Given the description of an element on the screen output the (x, y) to click on. 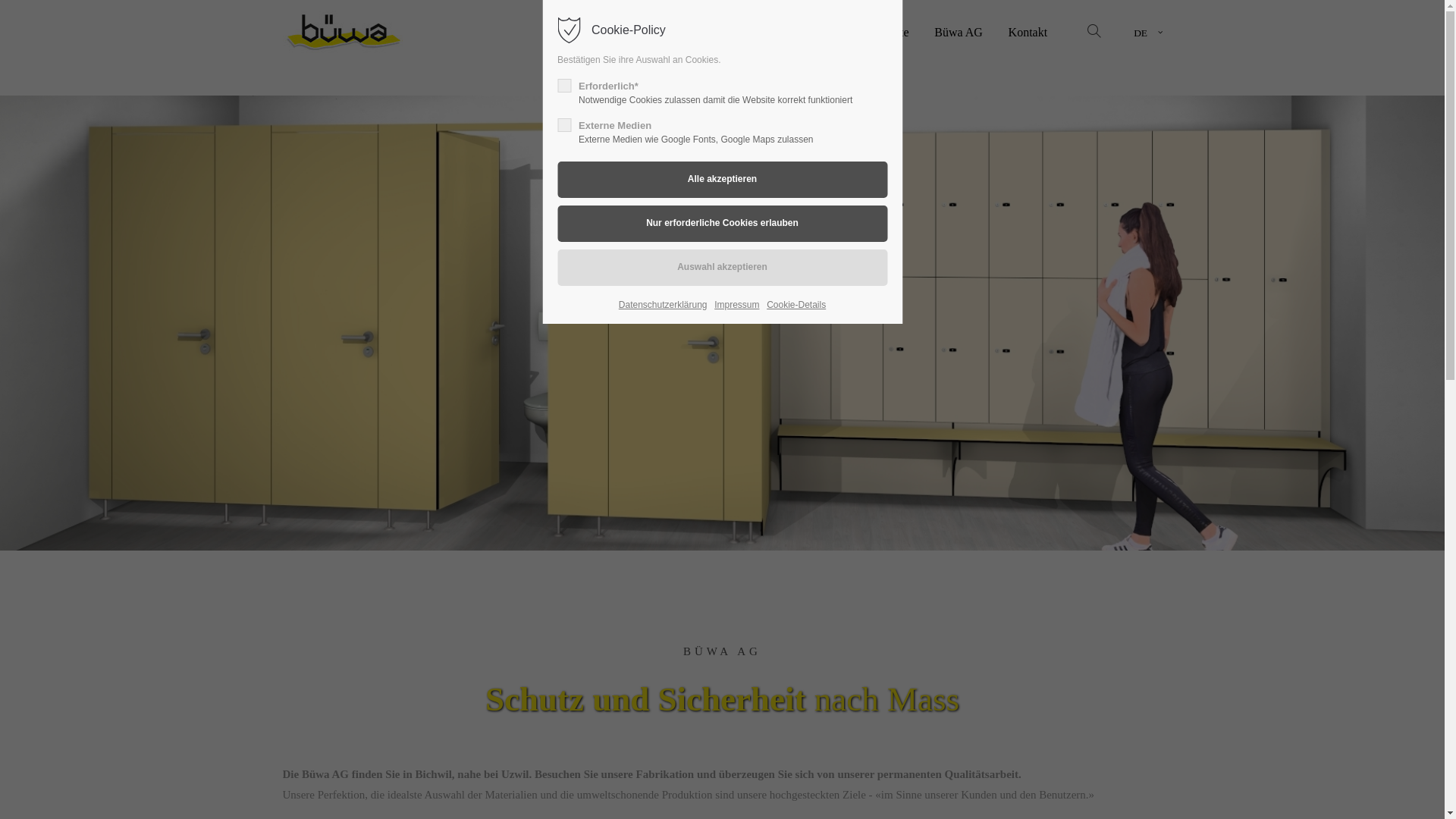
Cookie-Details Element type: text (795, 304)
Auswahl akzeptieren Element type: text (722, 267)
Kontakt Element type: text (1028, 32)
Home Element type: text (824, 32)
Produkte Element type: text (887, 32)
Impressum Element type: text (736, 304)
Alle akzeptieren Element type: text (722, 179)
Nur erforderliche Cookies erlauben Element type: text (722, 223)
